Given the description of an element on the screen output the (x, y) to click on. 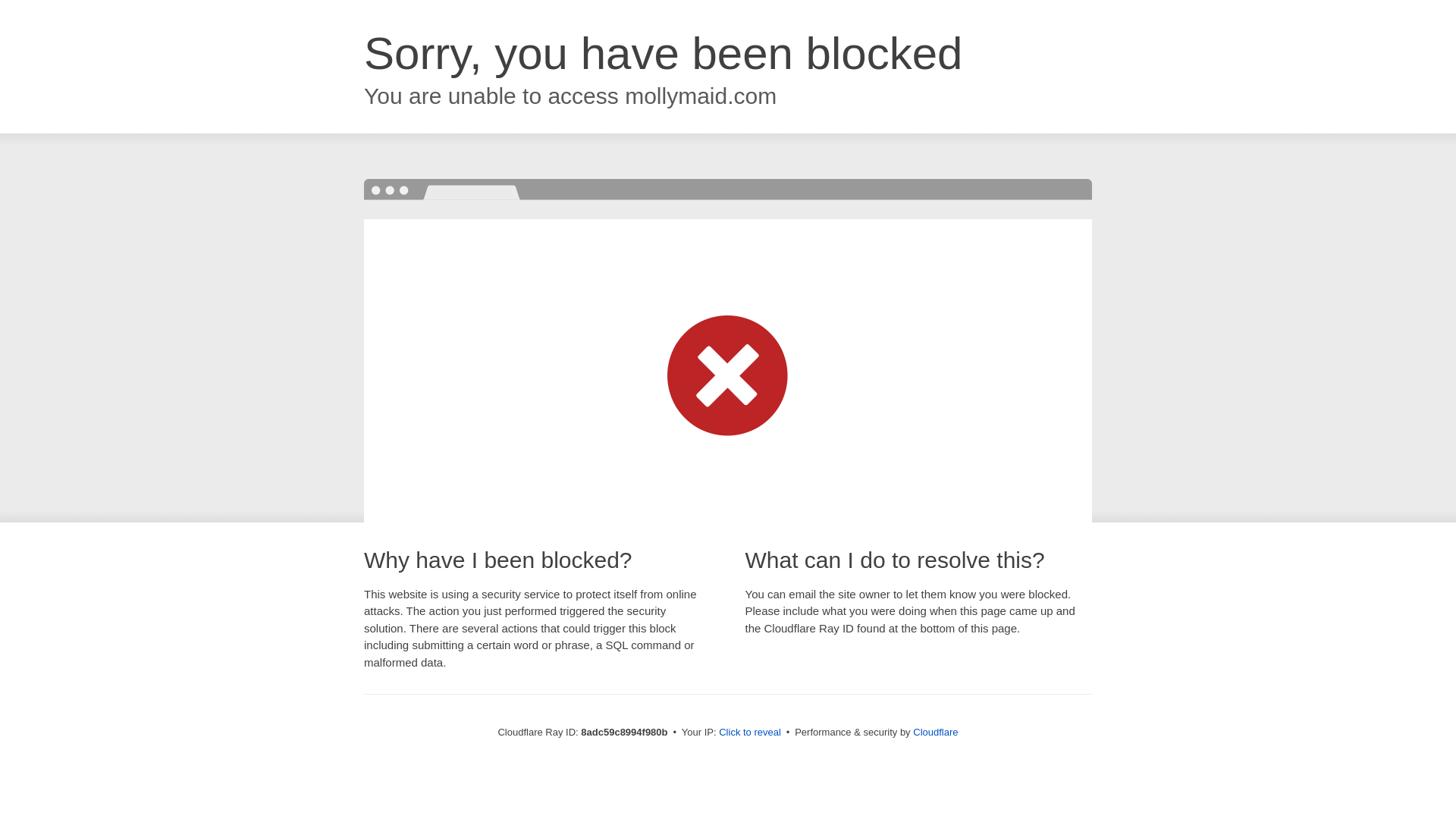
Cloudflare (935, 731)
Click to reveal (749, 732)
